Given the description of an element on the screen output the (x, y) to click on. 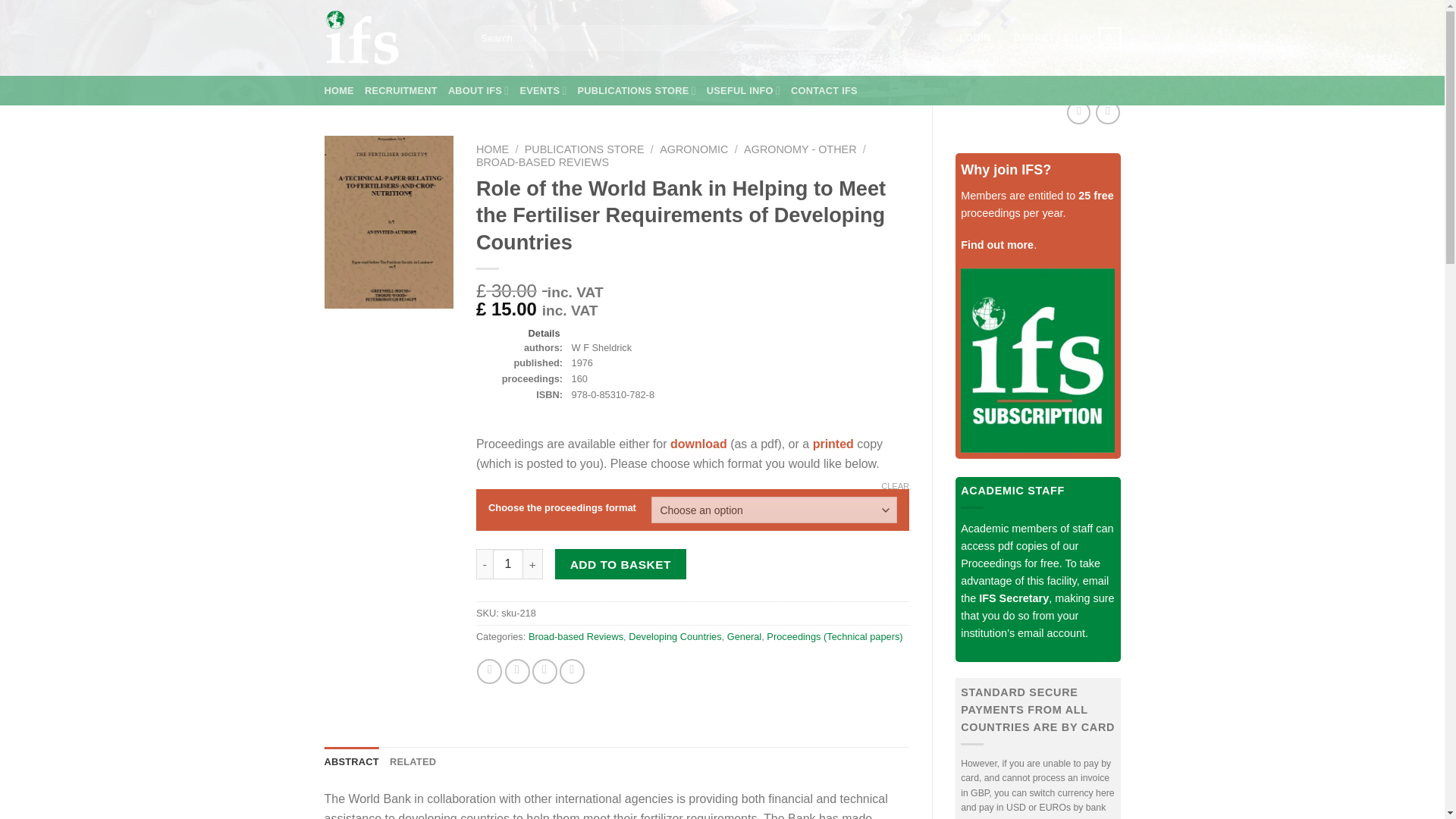
USEFUL INFO (743, 90)
PUBLICATIONS STORE (635, 90)
ABOUT IFS (478, 90)
LOGIN (975, 37)
Find out more (996, 244)
Share on LinkedIn (572, 671)
Email to a Friend (544, 671)
Share on Facebook (489, 671)
1 (507, 563)
